Given the description of an element on the screen output the (x, y) to click on. 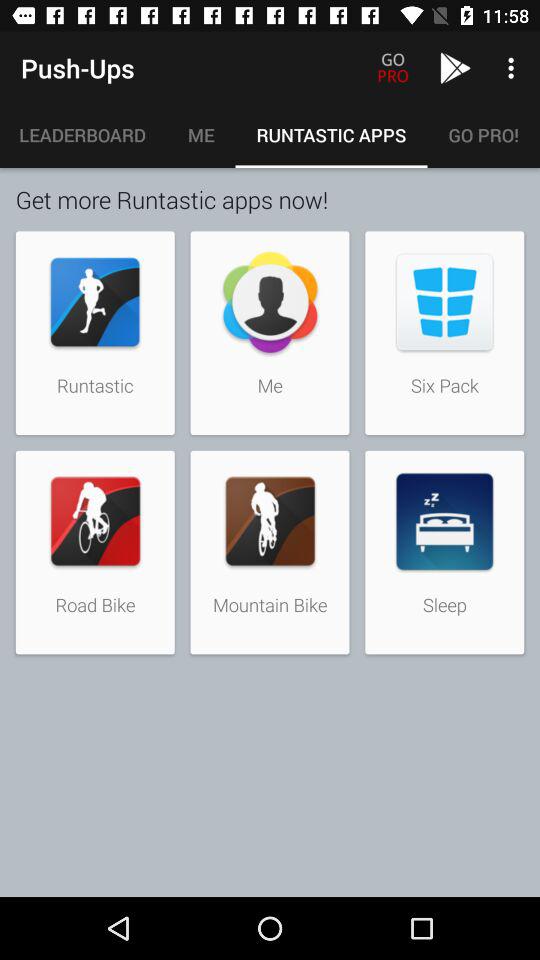
choose the item below push-ups (83, 135)
